Given the description of an element on the screen output the (x, y) to click on. 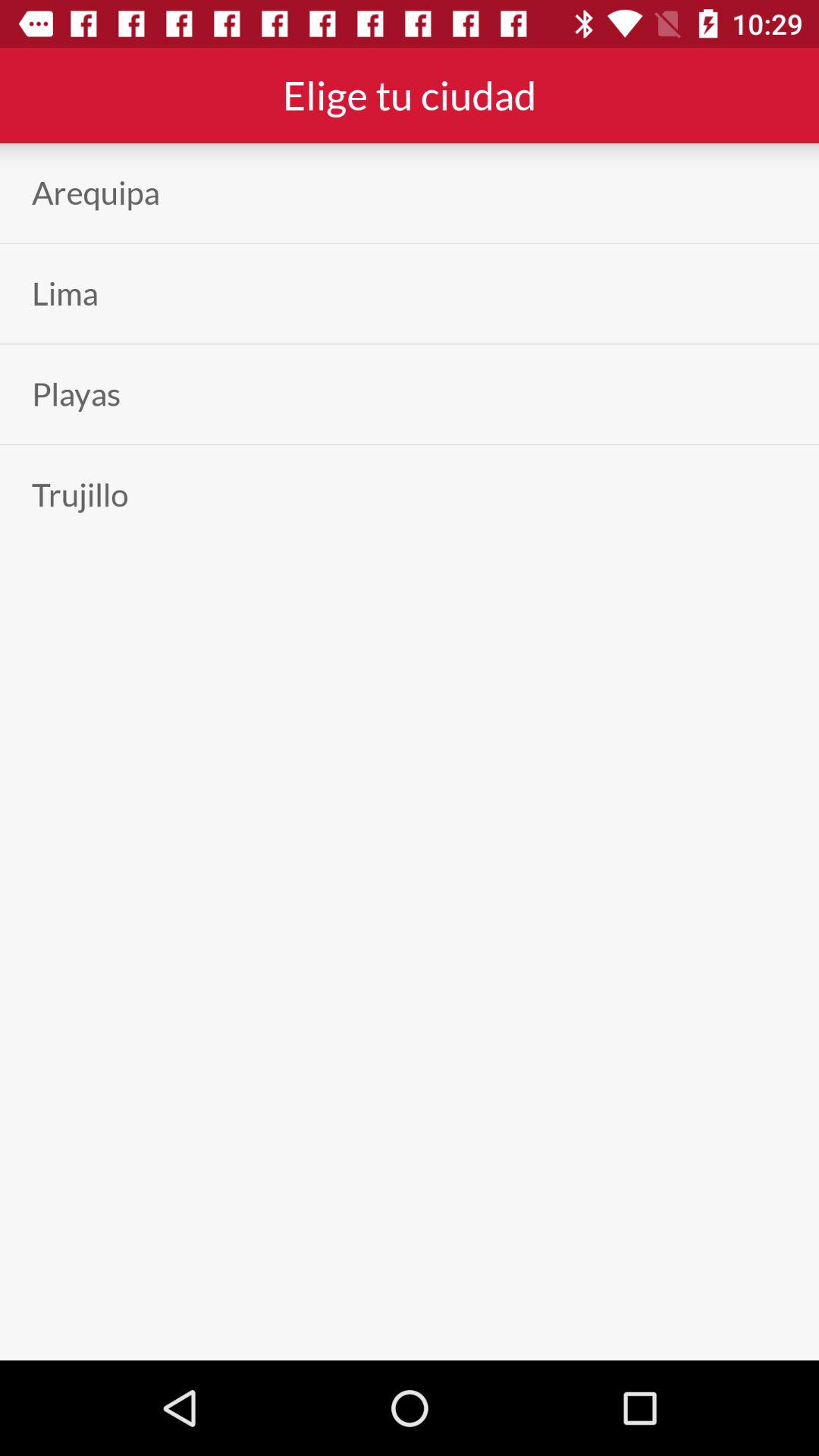
launch playas icon (75, 394)
